Given the description of an element on the screen output the (x, y) to click on. 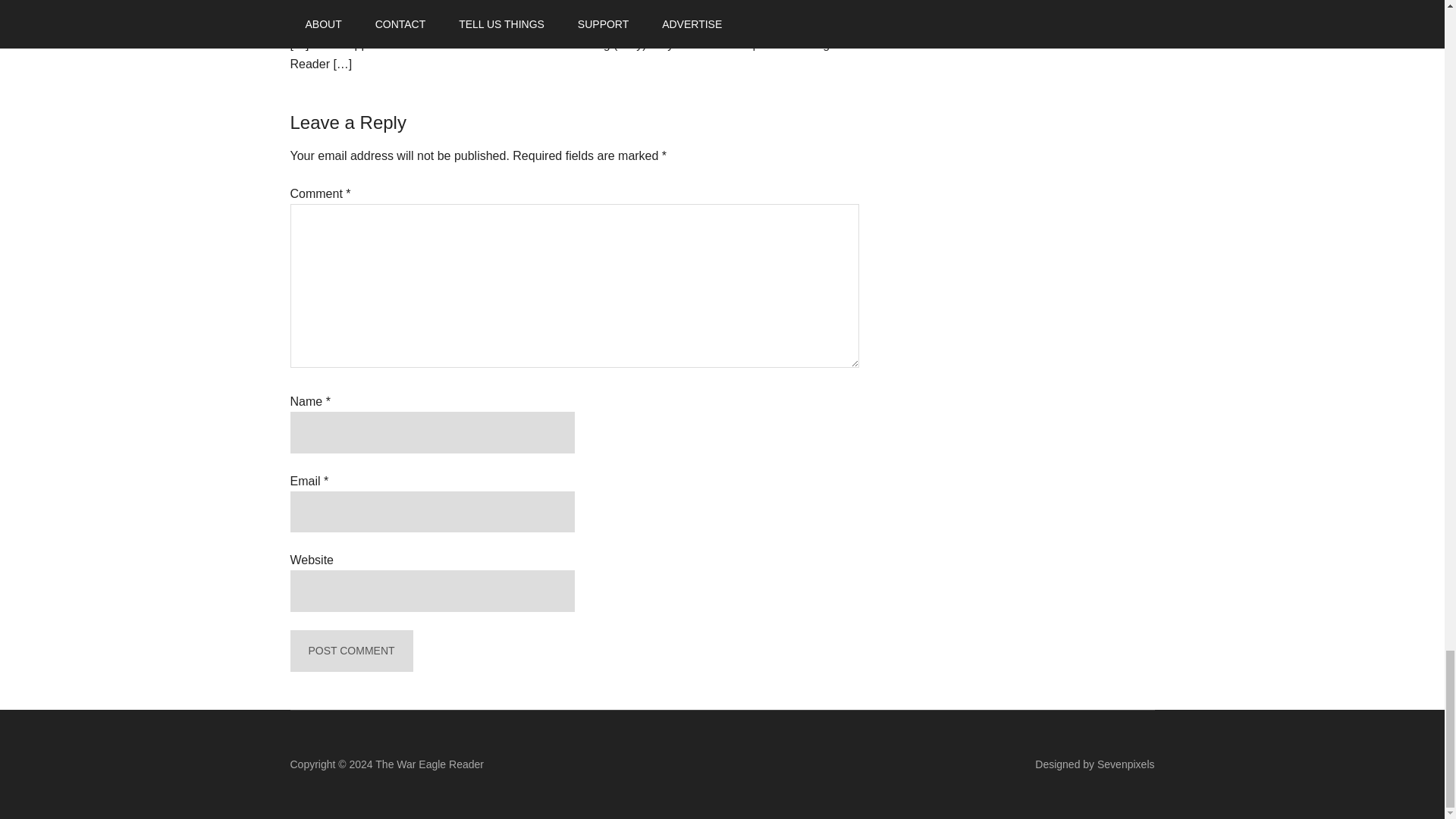
Post Comment (350, 650)
